Given the description of an element on the screen output the (x, y) to click on. 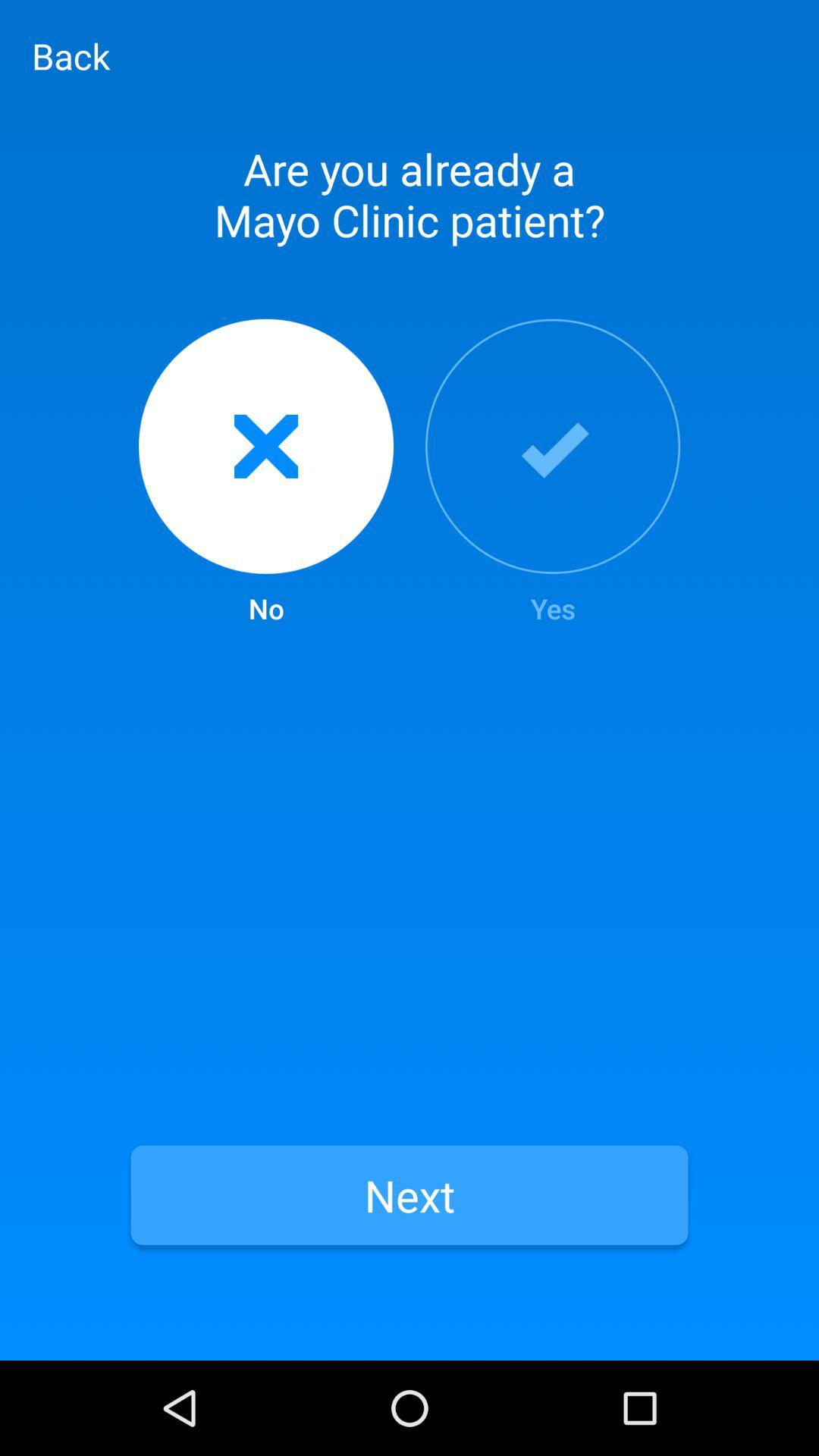
turn on the yes (552, 473)
